Given the description of an element on the screen output the (x, y) to click on. 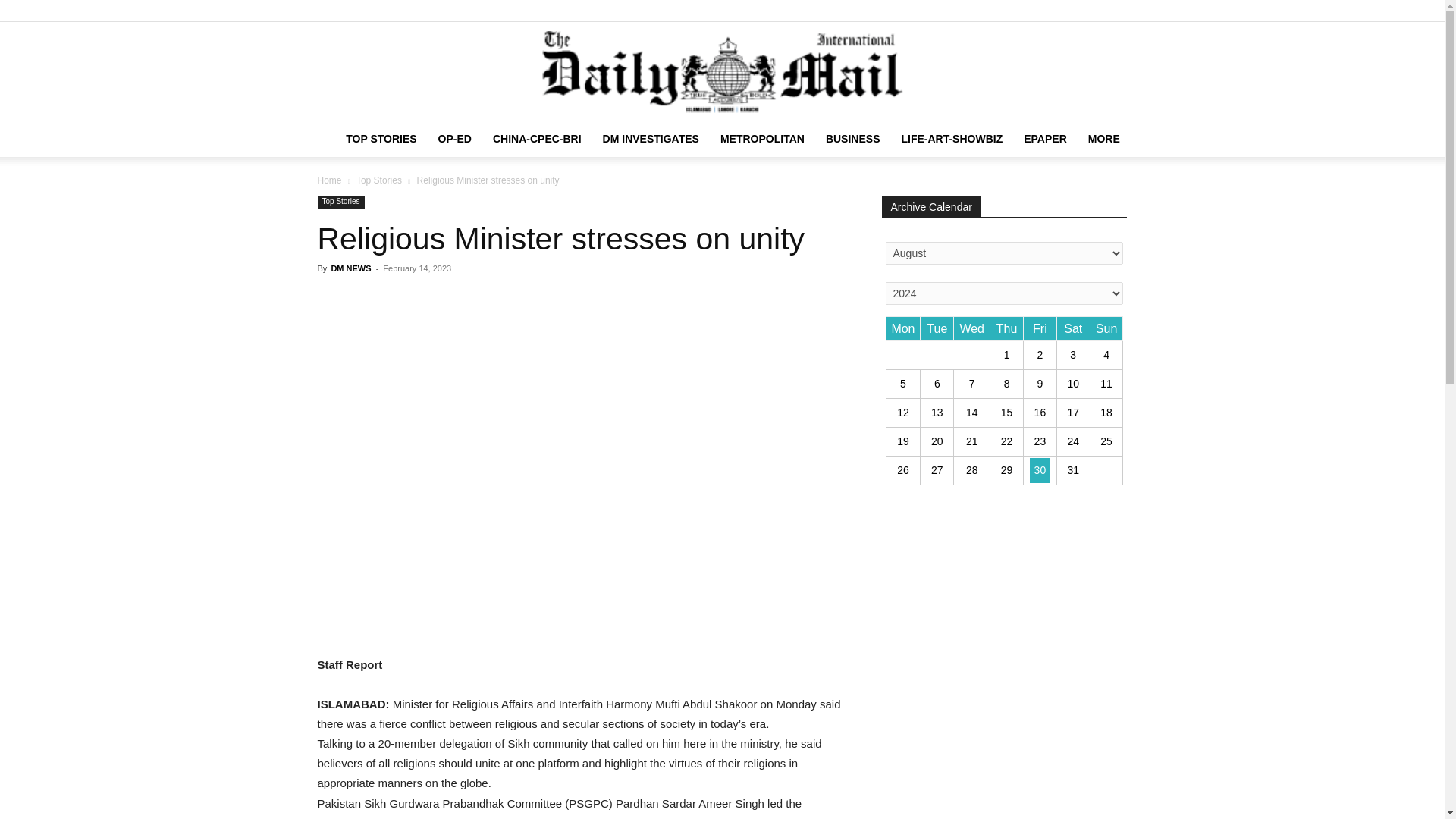
View all posts in Top Stories (378, 180)
METROPOLITAN (762, 138)
BUSINESS (853, 138)
Tuesday (936, 328)
Wednesday (971, 328)
MORE (1104, 138)
LIFE-ART-SHOWBIZ (951, 138)
TOP STORIES (380, 138)
CHINA-CPEC-BRI (536, 138)
OP-ED (454, 138)
